Given the description of an element on the screen output the (x, y) to click on. 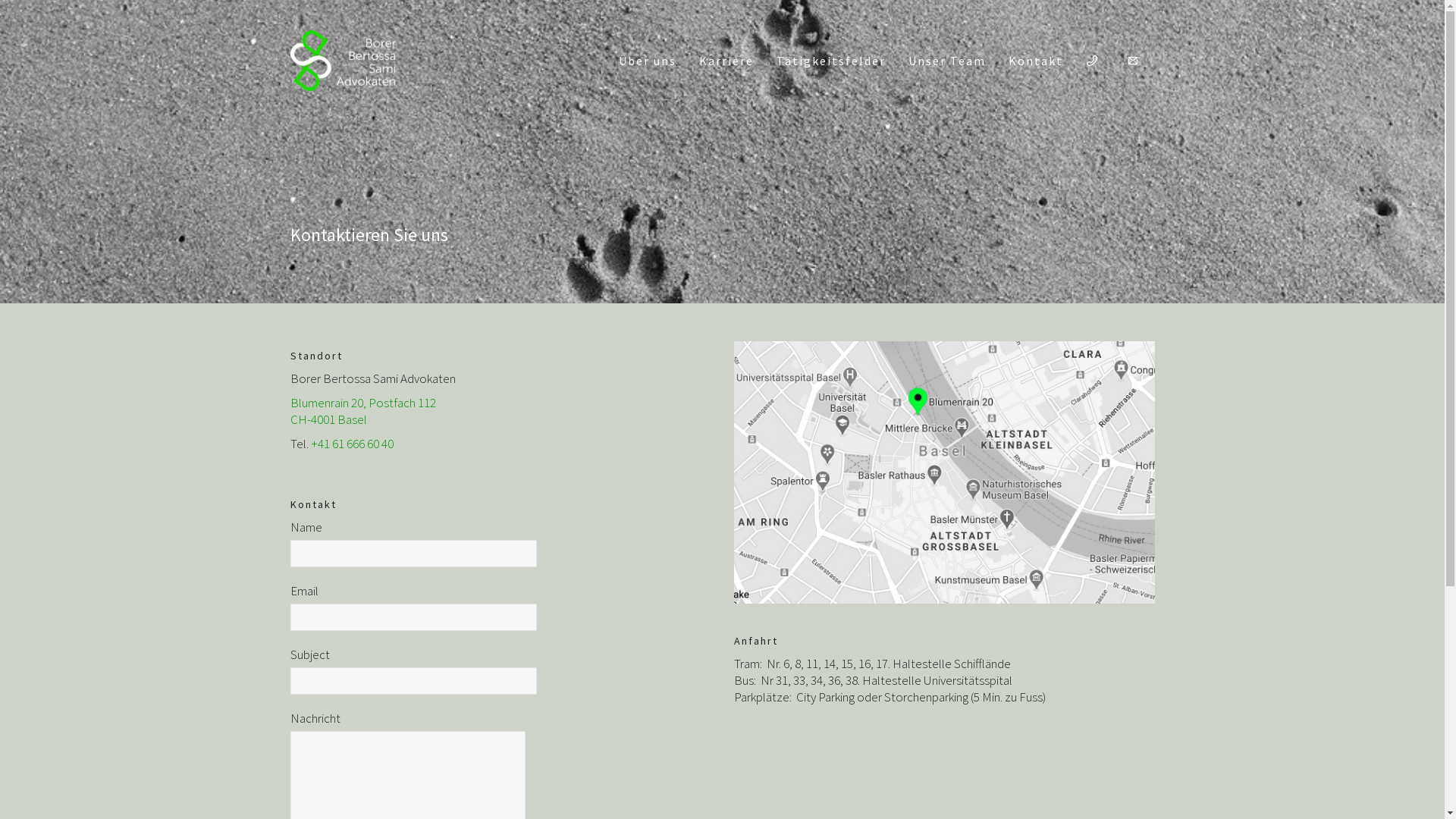
+41 61 666 60 40 Element type: text (351, 443)
Blumenrain 20, Postfach 112
CH-4001 Basel Element type: text (362, 410)
Karriere Element type: text (725, 60)
Kontakt Element type: text (1034, 60)
Unser Team Element type: text (946, 60)
